Given the description of an element on the screen output the (x, y) to click on. 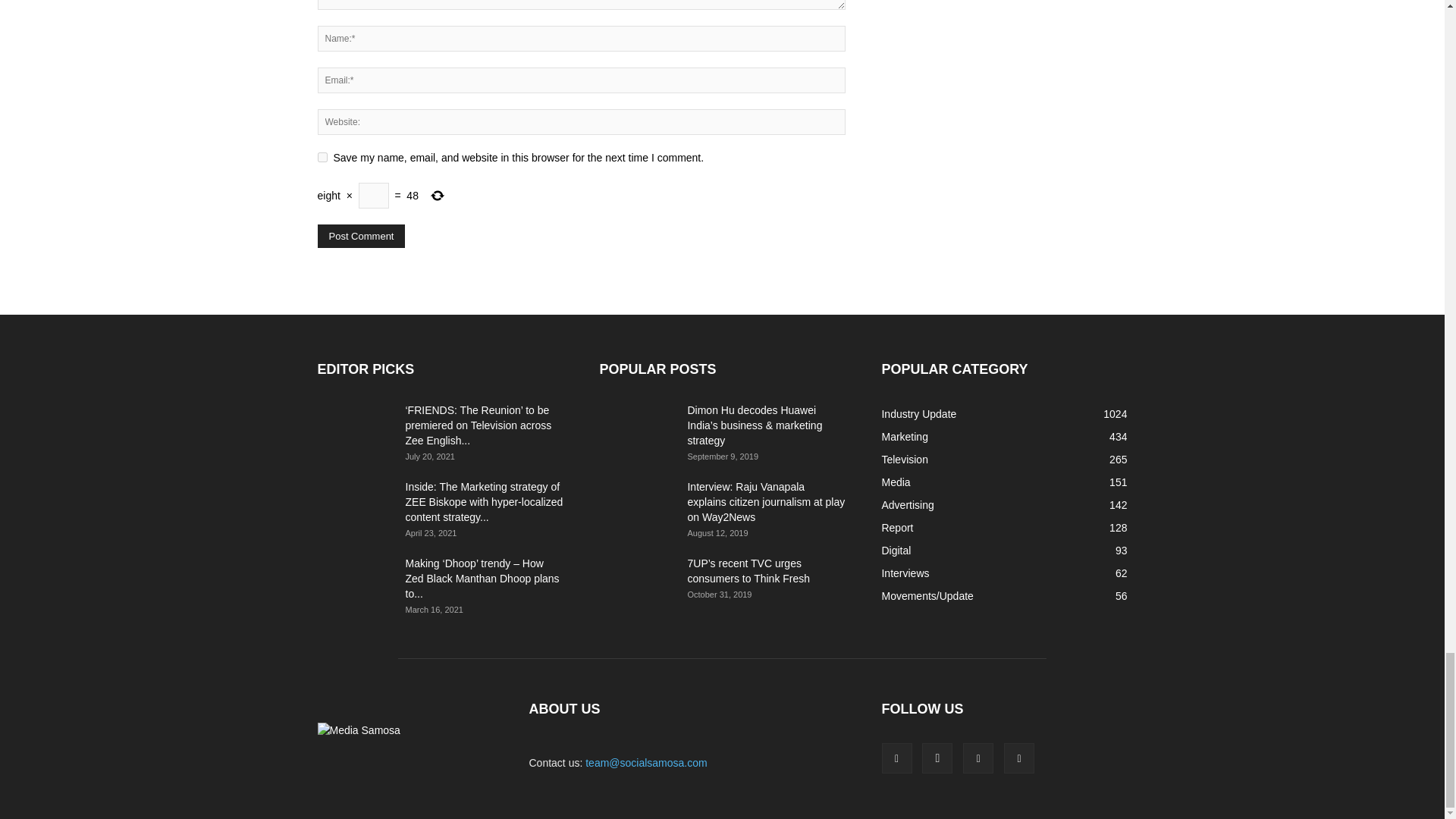
Post Comment (360, 236)
yes (321, 157)
